Given the description of an element on the screen output the (x, y) to click on. 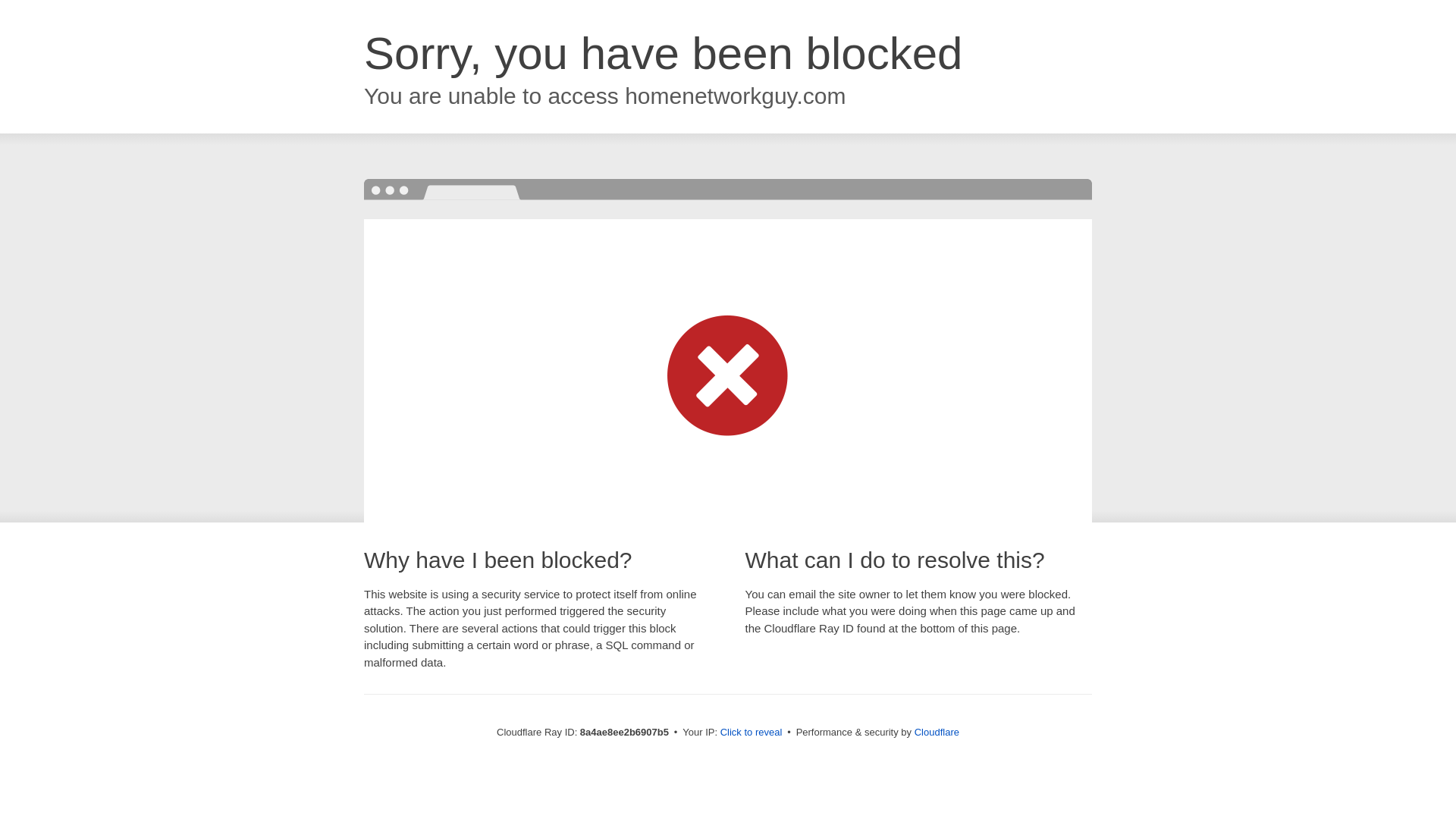
Click to reveal (751, 732)
Cloudflare (936, 731)
